Given the description of an element on the screen output the (x, y) to click on. 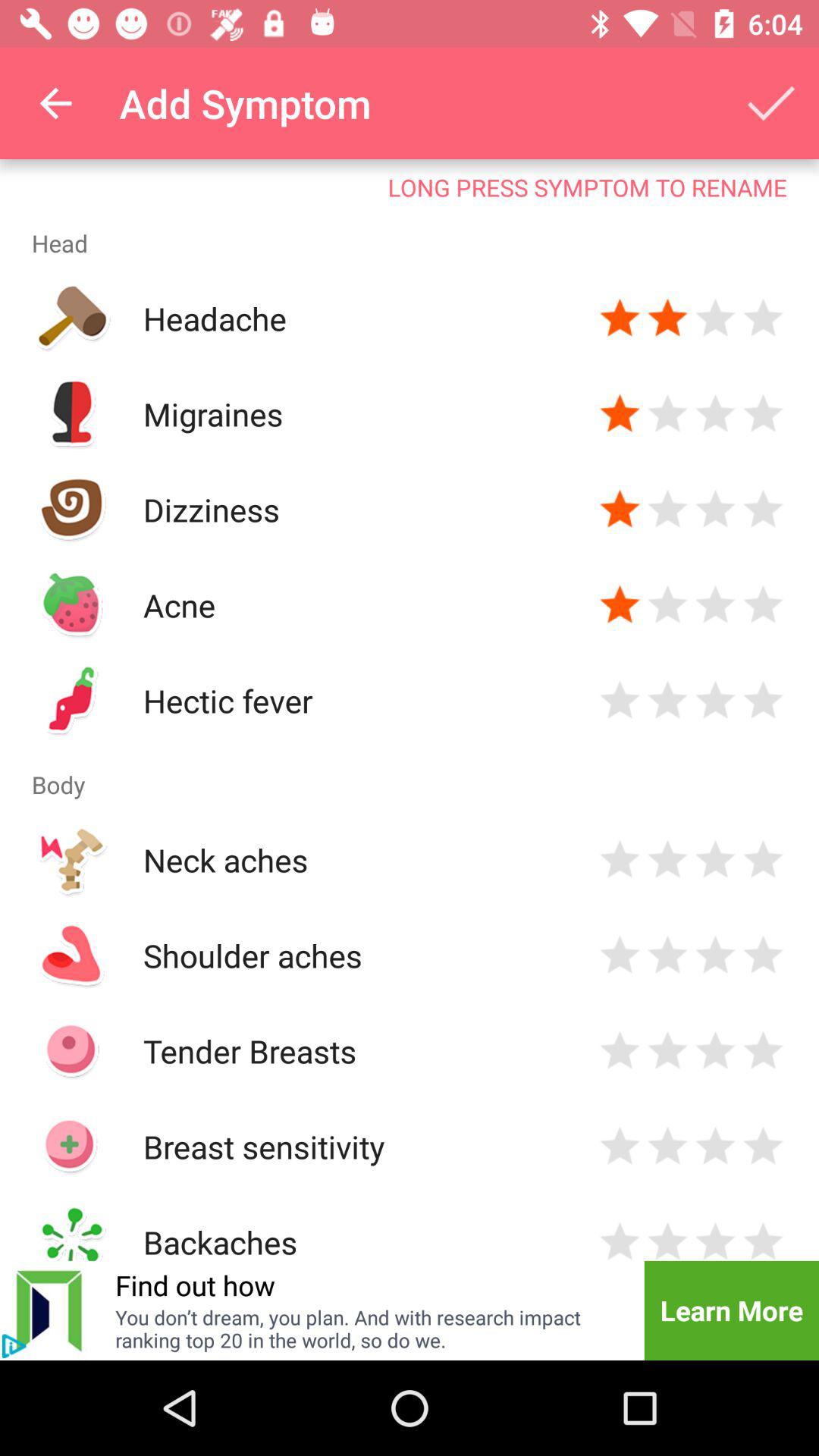
add 3 star rating (715, 700)
